Given the description of an element on the screen output the (x, y) to click on. 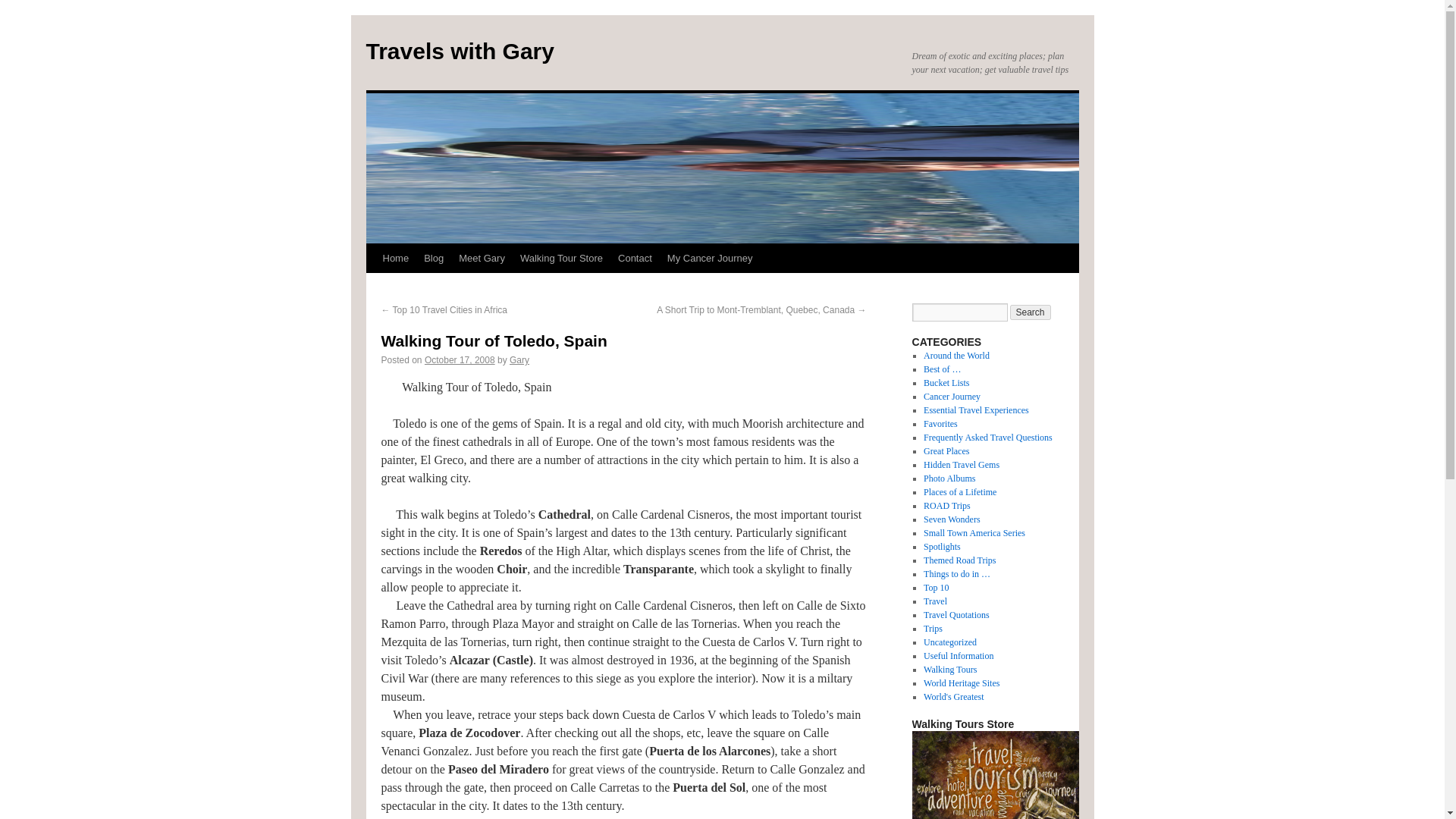
Travel (935, 601)
Meet Gary (481, 258)
Bucket Lists (946, 382)
Trips (932, 628)
Favorites (940, 423)
Blog (433, 258)
Small Town America Series (974, 532)
Photo Albums (949, 478)
10:02 am (460, 359)
Places of a Lifetime (959, 491)
Travel Quotations (956, 614)
Essential Travel Experiences (976, 409)
View all posts by Gary (519, 359)
October 17, 2008 (460, 359)
My Cancer Journey (709, 258)
